Given the description of an element on the screen output the (x, y) to click on. 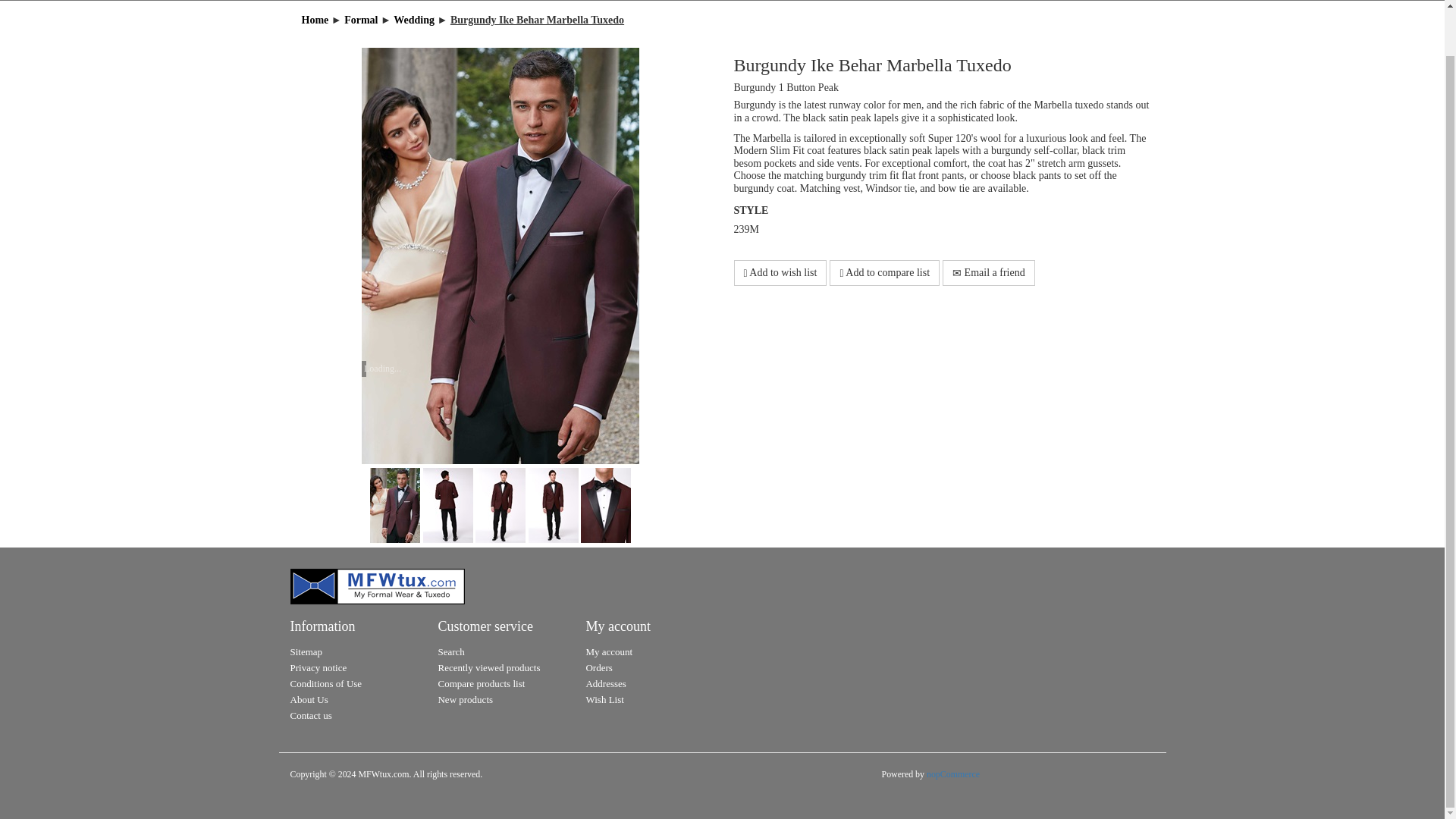
Home (316, 19)
Email a friend (988, 272)
Add to compare list (884, 272)
Add to wish list (780, 272)
Picture of Burgundy Ike Behar Marbella Tuxedo (605, 504)
Picture of Burgundy Ike Behar Marbella Tuxedo (449, 504)
FORMAL (606, 0)
Wedding (414, 19)
Picture of Burgundy Ike Behar Marbella Tuxedo (553, 504)
